Given the description of an element on the screen output the (x, y) to click on. 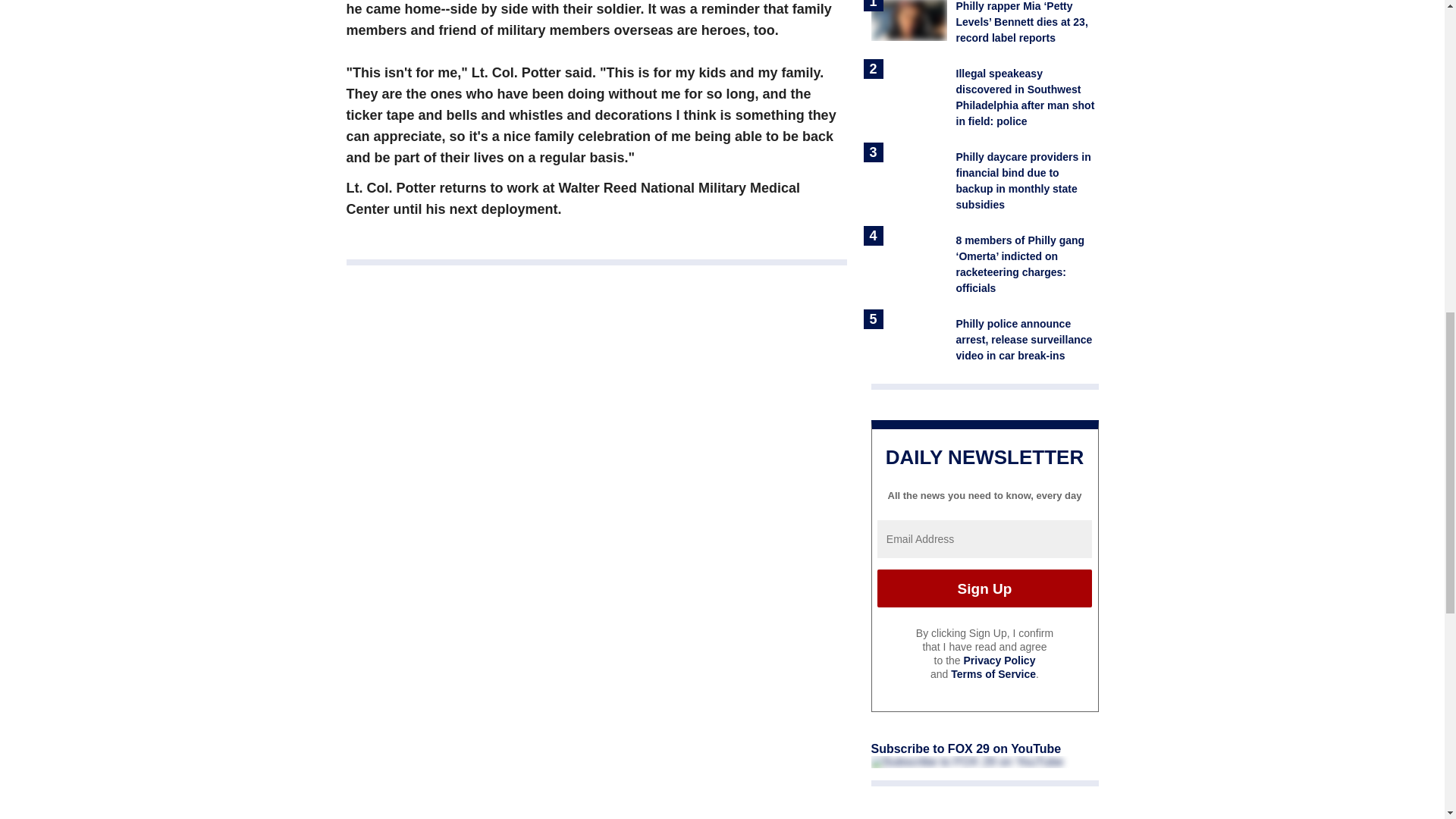
Sign Up (984, 588)
